Given the description of an element on the screen output the (x, y) to click on. 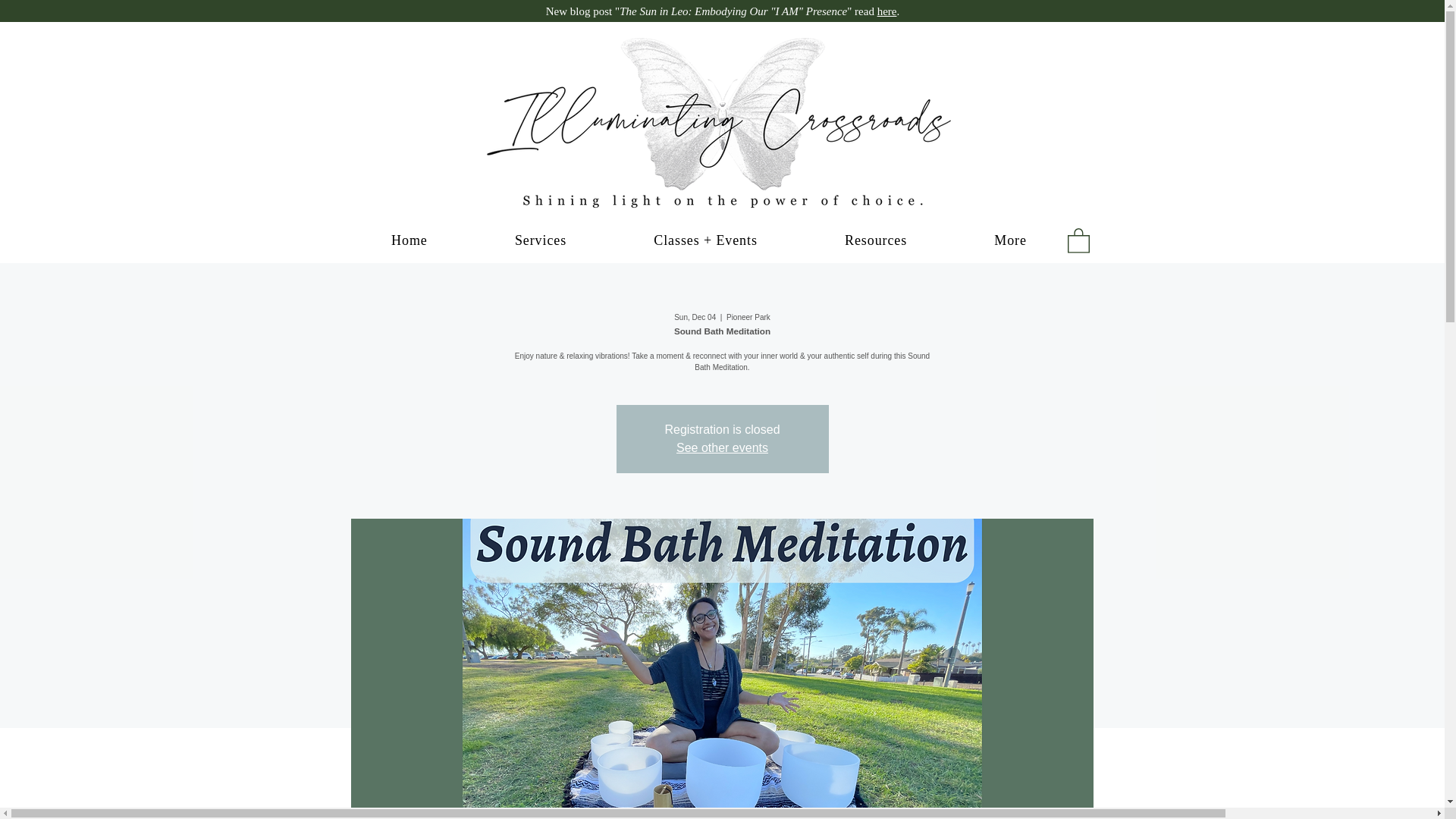
See other events (722, 447)
Website Banner.png (721, 122)
here (886, 10)
Home (408, 240)
